Given the description of an element on the screen output the (x, y) to click on. 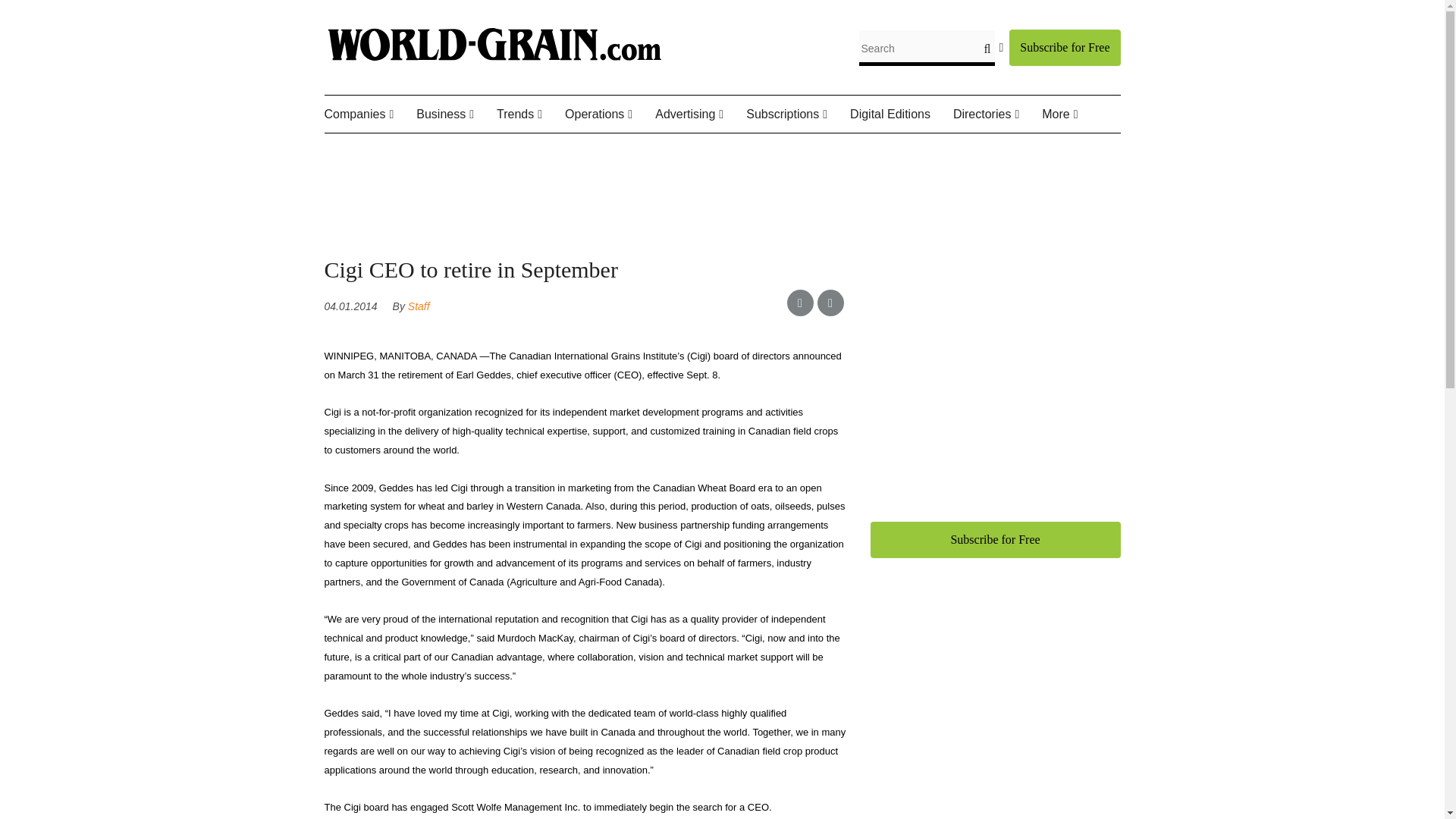
Commodities (491, 149)
Suppliers (427, 149)
Companies (370, 114)
Operations (609, 114)
Sustainability (596, 149)
Biotechnology (571, 149)
Subscribe for Free (1064, 47)
Feed Companies (407, 149)
Flour Milling Equipment (640, 160)
People (423, 149)
